Given the description of an element on the screen output the (x, y) to click on. 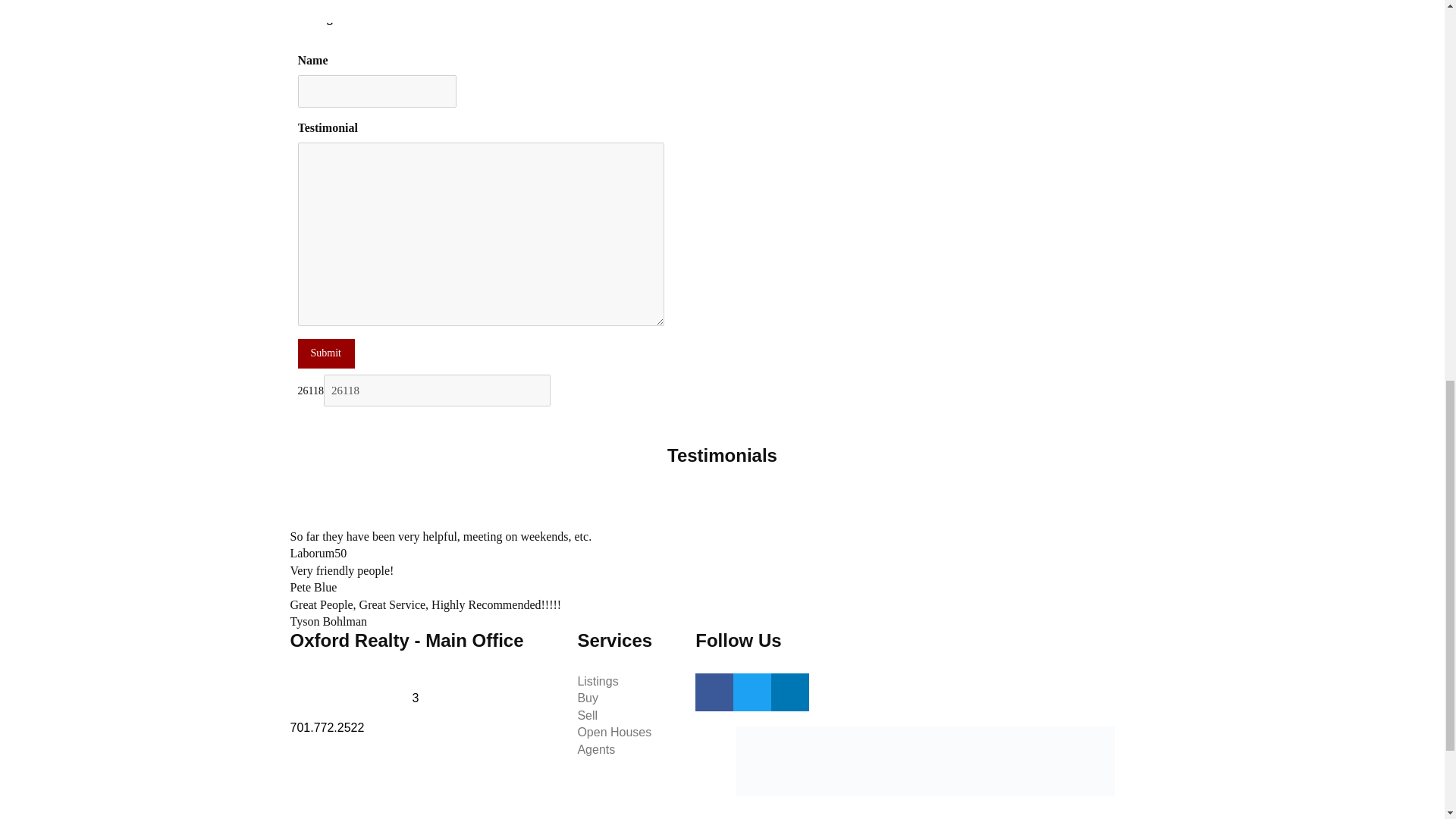
grating2b7acd451 (302, 39)
grating2e7462319 (302, 39)
Submit (325, 353)
grating29370b26c (302, 39)
26118 (436, 390)
grating2a4a55a73 (302, 39)
grating200b27455 (302, 39)
